Given the description of an element on the screen output the (x, y) to click on. 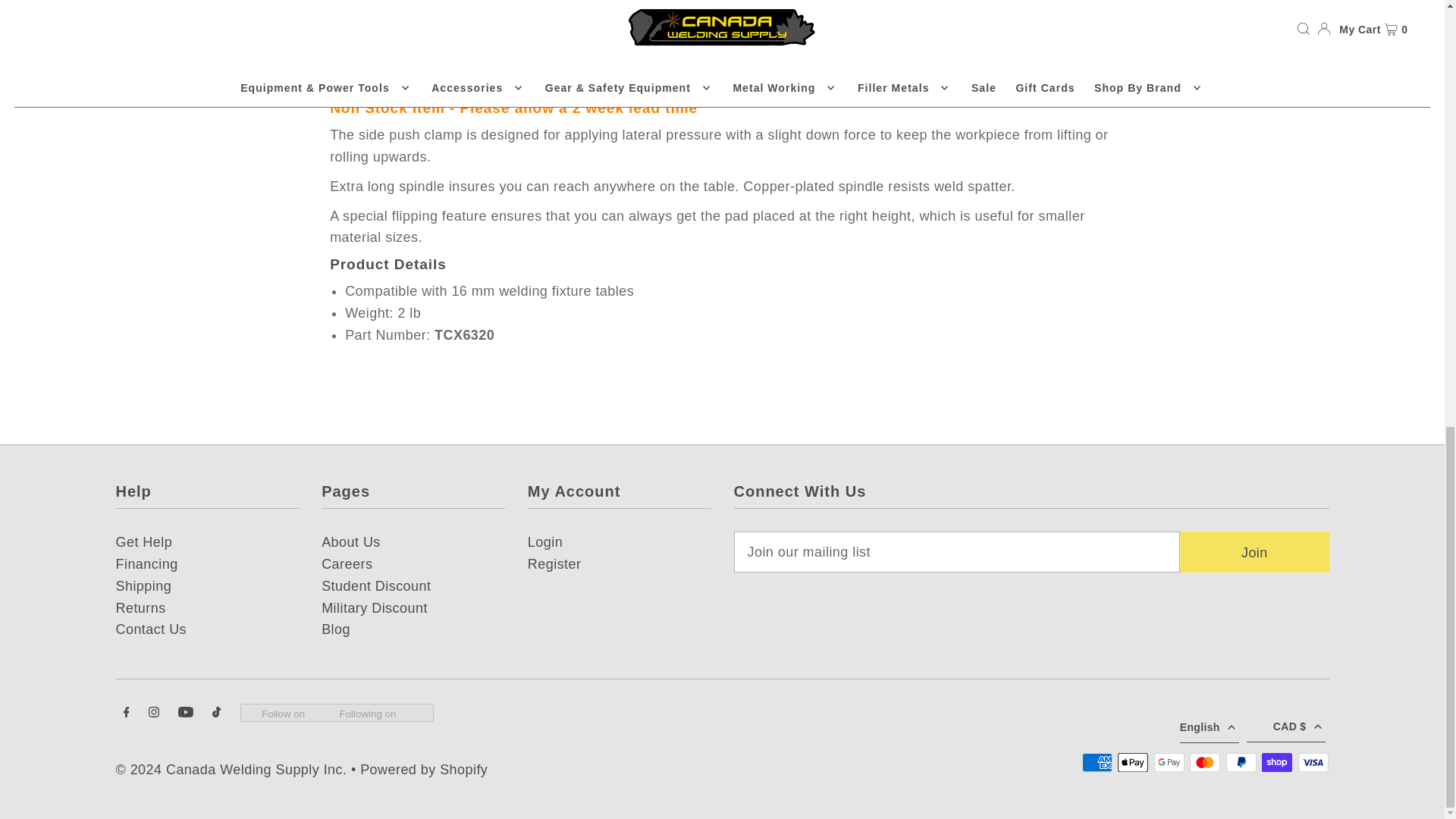
Apple Pay (1133, 762)
Tiktok (216, 712)
Join (1253, 551)
Mastercard (1204, 762)
American Express (1096, 762)
Google Pay (1169, 762)
